Given the description of an element on the screen output the (x, y) to click on. 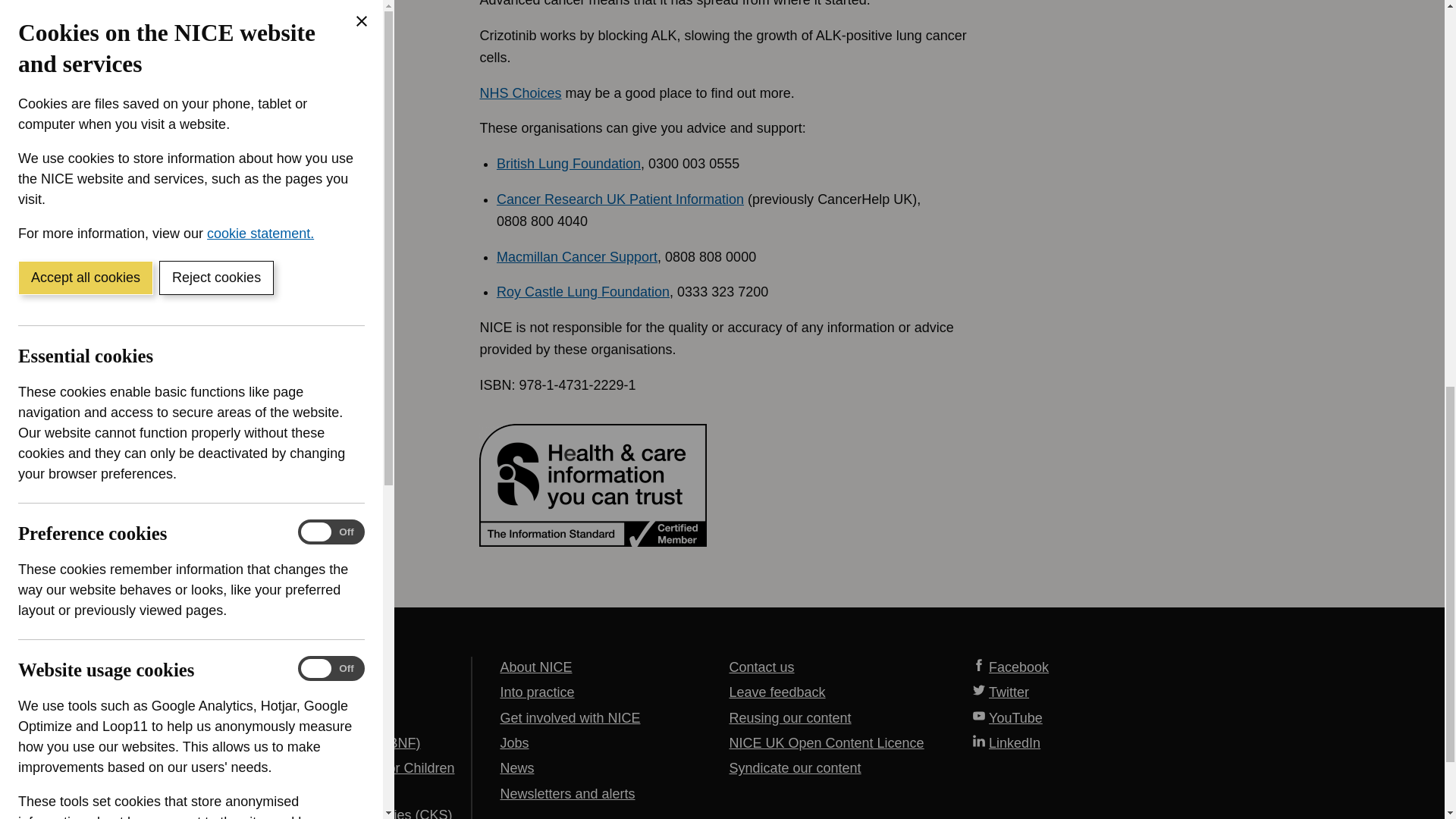
Show vendors within this category (130, 427)
Show vendors within this category (130, 63)
